Given the description of an element on the screen output the (x, y) to click on. 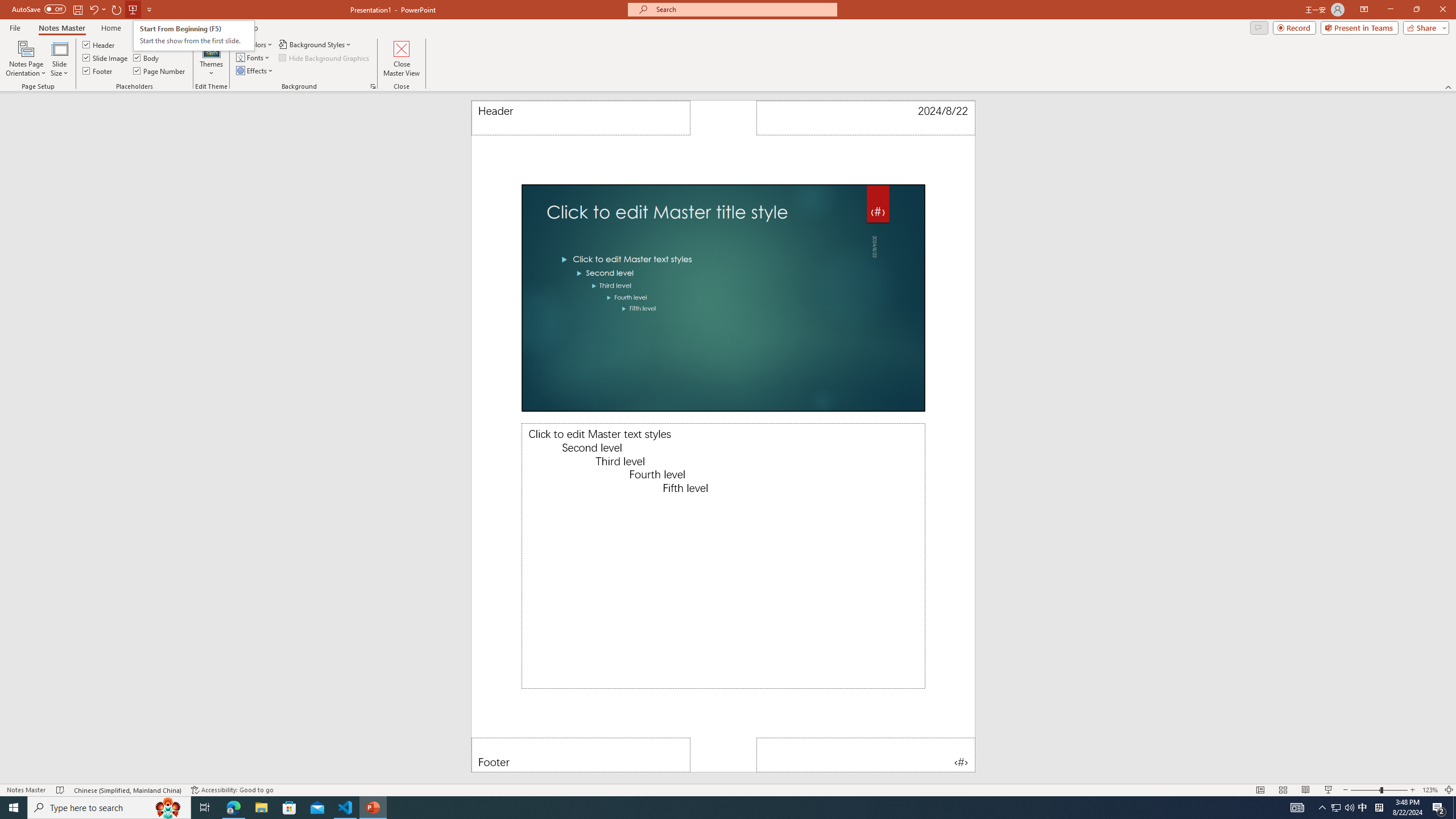
Page Number (160, 69)
Notes Master (61, 28)
